Given the description of an element on the screen output the (x, y) to click on. 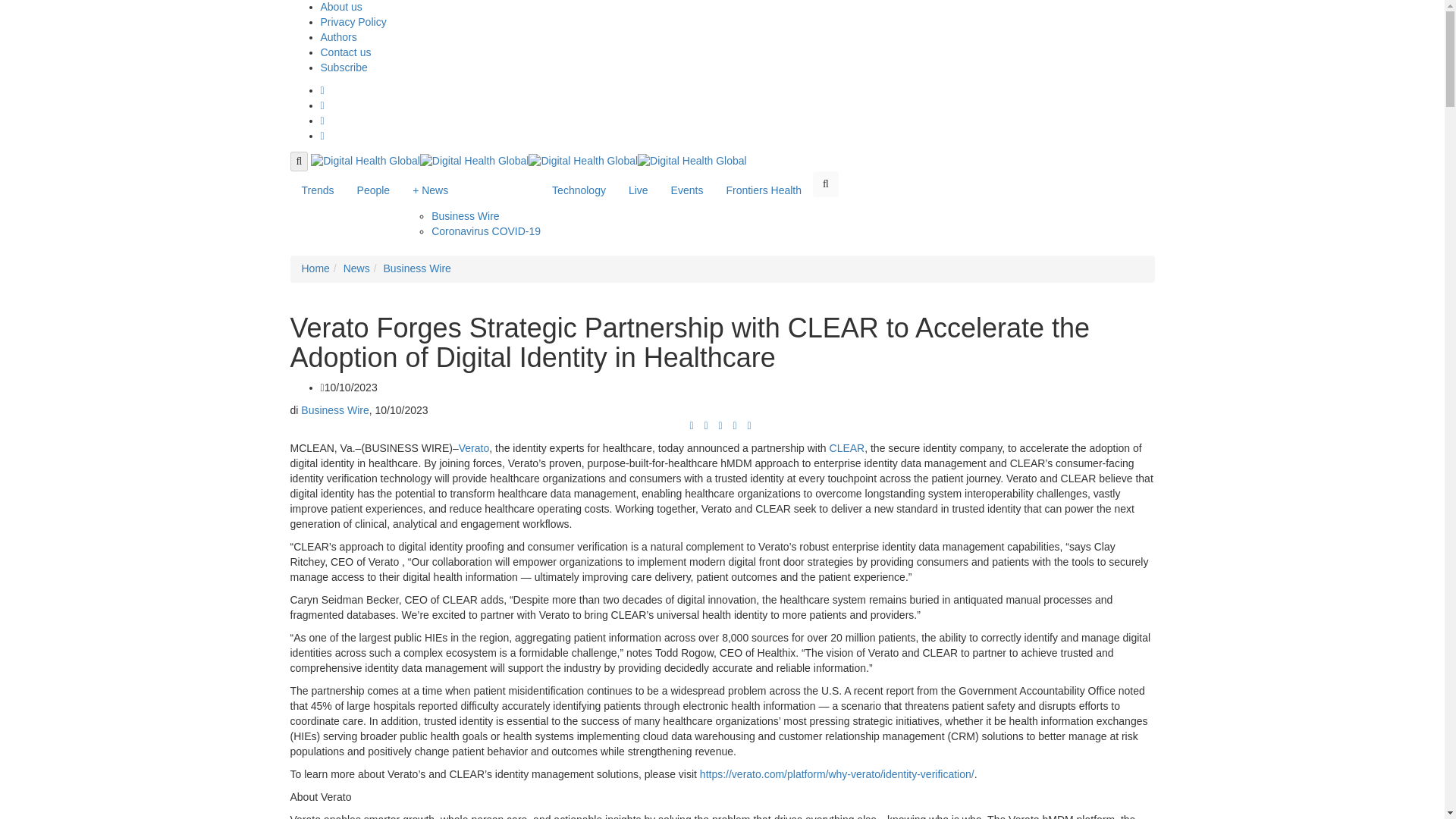
About us (340, 6)
Trends (317, 190)
Verato (473, 448)
Live (638, 190)
Frontiers Health (763, 190)
People (373, 190)
Events (686, 190)
Linkedin (321, 120)
Business Wire (334, 410)
Share on Twitter (705, 425)
Business Wire (415, 268)
News (356, 268)
Subscribe (343, 67)
Privacy Policy (352, 21)
Share on Pinterest (734, 425)
